Given the description of an element on the screen output the (x, y) to click on. 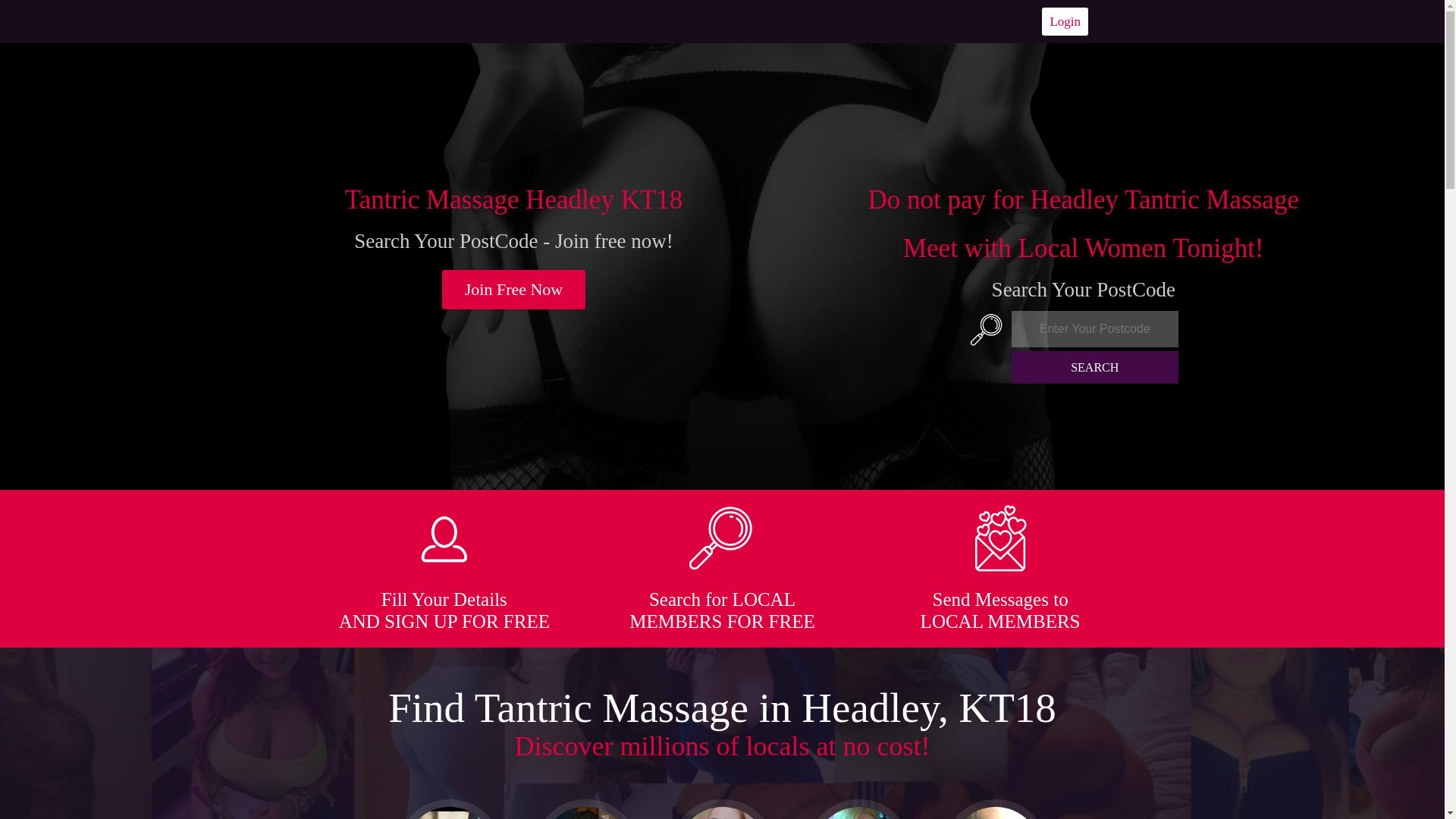
Join (514, 289)
SEARCH (1094, 367)
Login (1064, 21)
Join Free Now (514, 289)
Login (1064, 21)
